Given the description of an element on the screen output the (x, y) to click on. 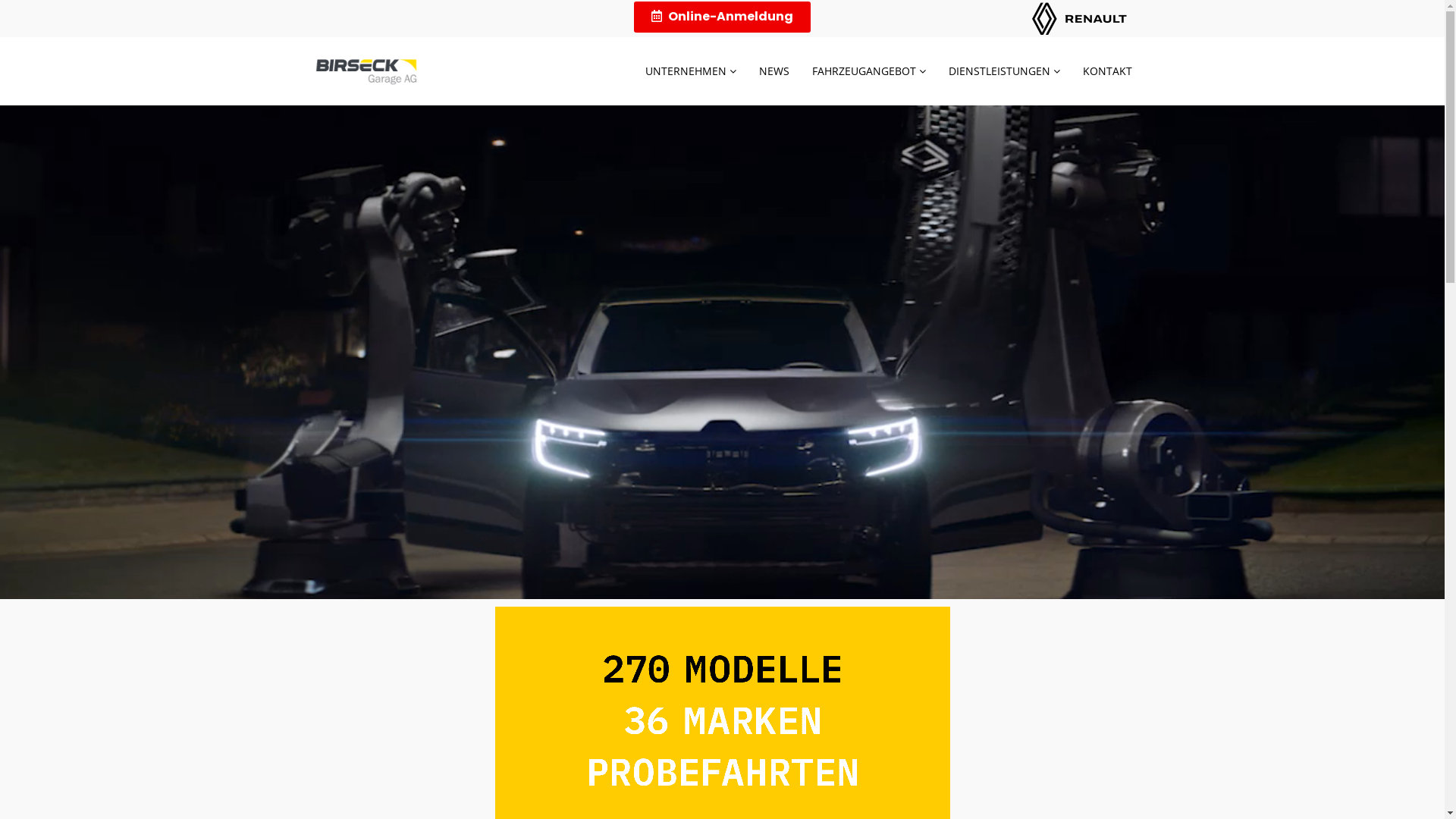
NEWS Element type: text (773, 71)
UNTERNEHMEN Element type: text (690, 71)
DIENSTLEISTUNGEN Element type: text (1004, 71)
KONTAKT Element type: text (1106, 71)
Online-Anmeldung Element type: text (721, 16)
FAHRZEUGANGEBOT Element type: text (868, 71)
